Given the description of an element on the screen output the (x, y) to click on. 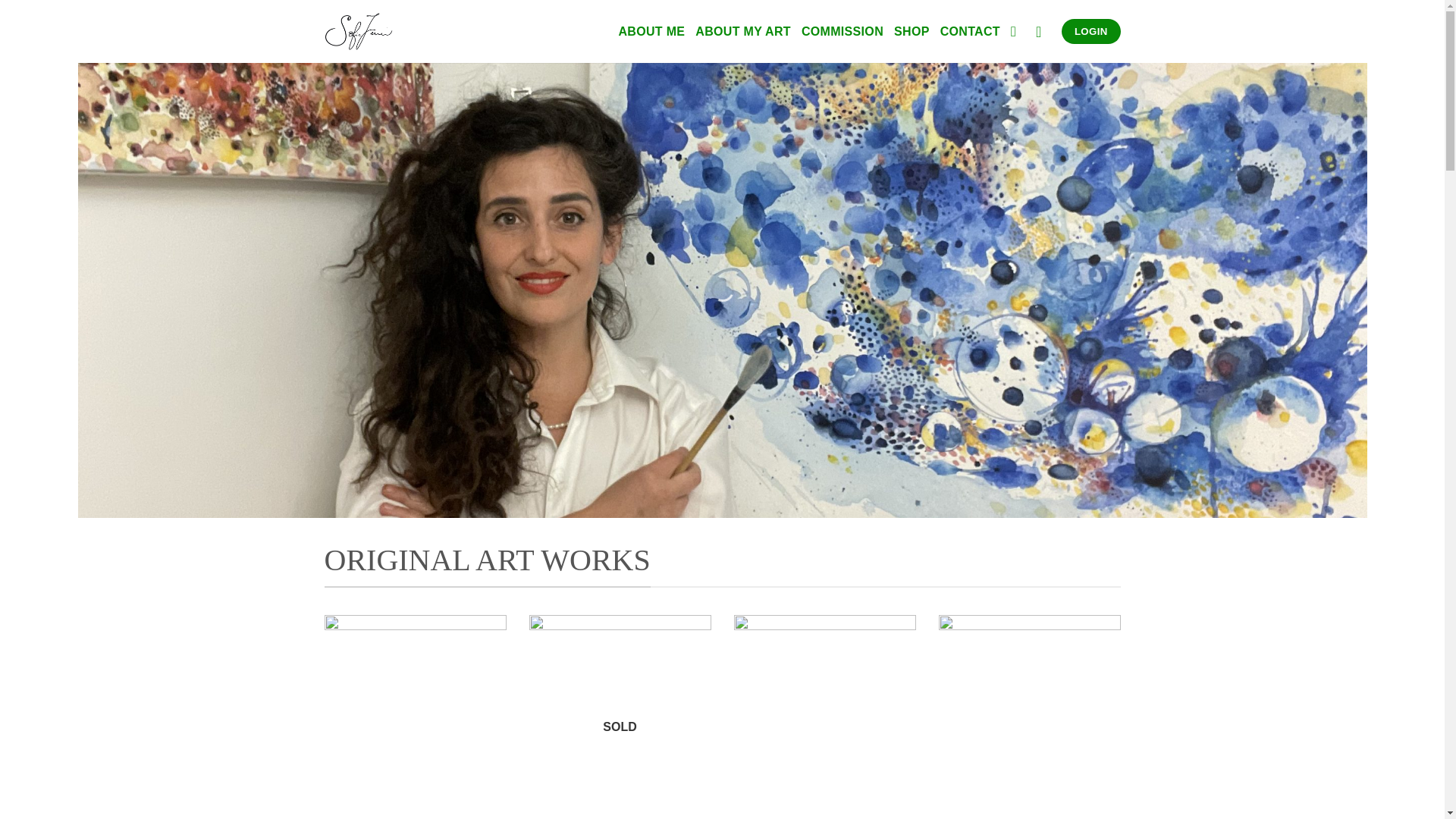
SOLD (620, 717)
SHOP (911, 31)
Sofia Ferrari (358, 31)
ABOUT ME (650, 31)
LOGIN (1090, 31)
CONTACT (970, 31)
COMMISSION (842, 31)
ABOUT MY ART (742, 31)
